Given the description of an element on the screen output the (x, y) to click on. 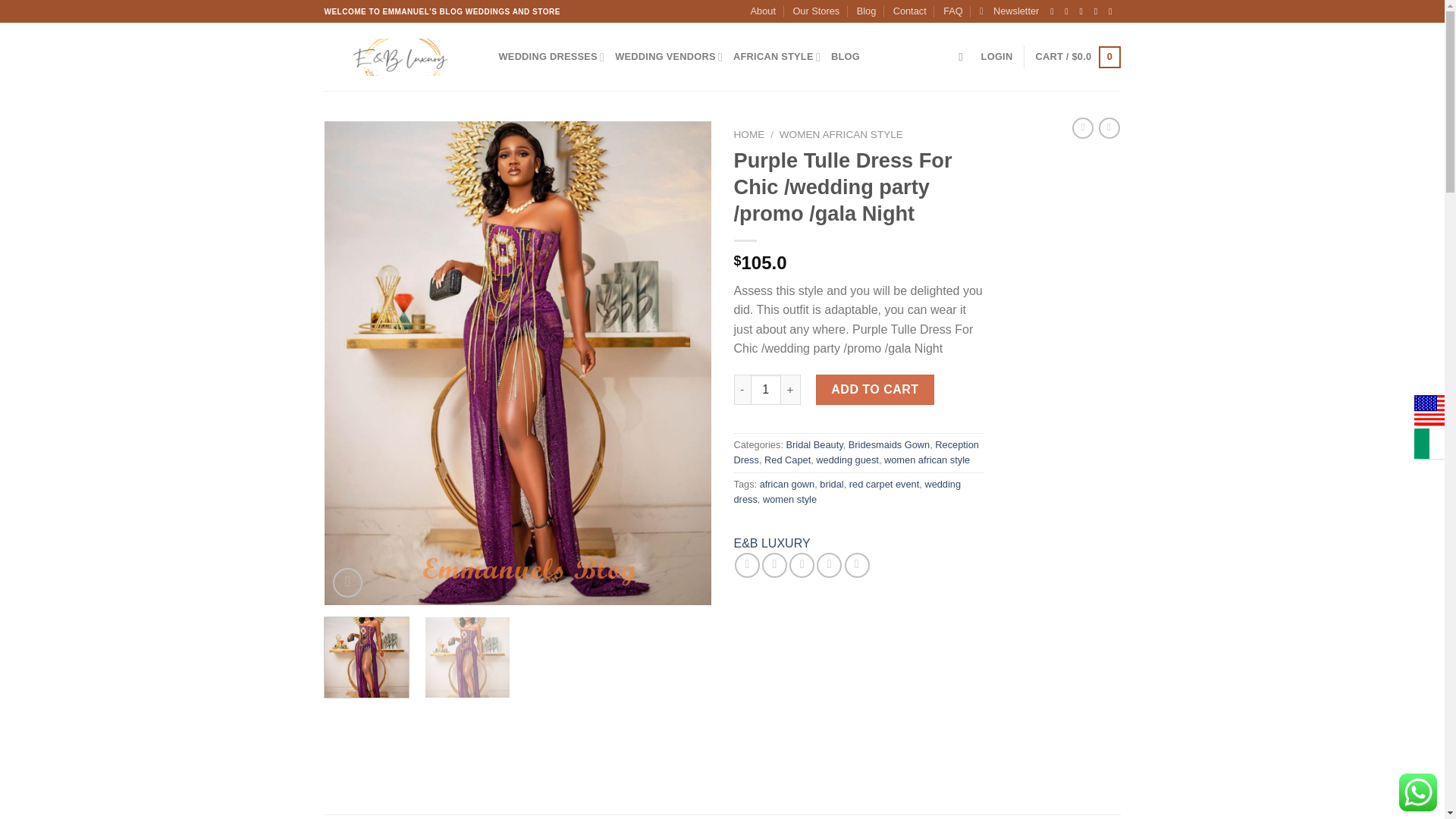
EsB Store - Pan African Online Store For Custom Made Dresses (400, 56)
Contact (909, 11)
WEDDING VENDORS (668, 57)
Our Stores (816, 11)
1 (765, 389)
Sign up for Newsletter (1009, 11)
Zoom (347, 582)
Cart (1077, 57)
About (763, 11)
WEDDING DRESSES (552, 57)
